Given the description of an element on the screen output the (x, y) to click on. 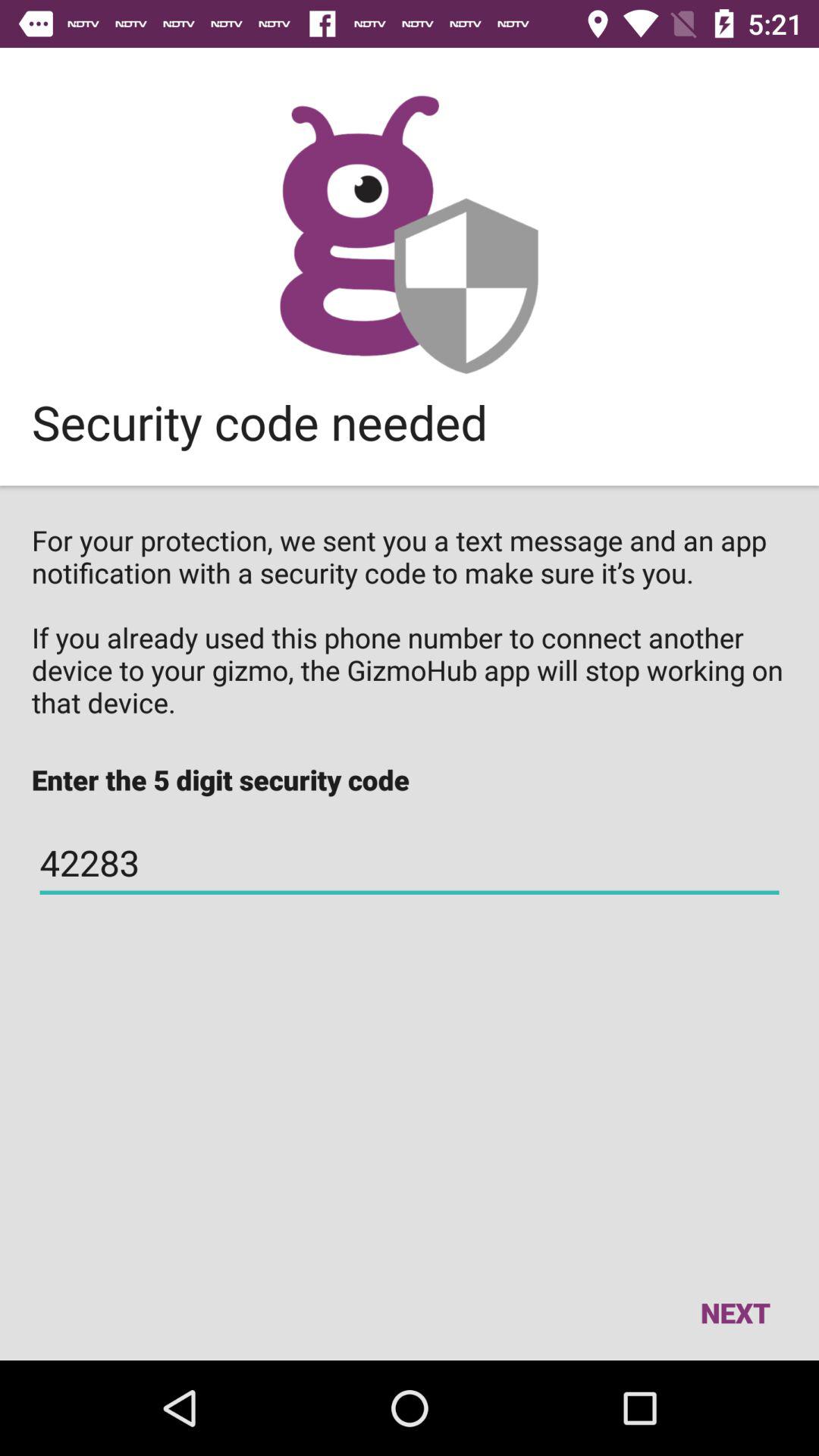
click the item below 42283 (735, 1312)
